Given the description of an element on the screen output the (x, y) to click on. 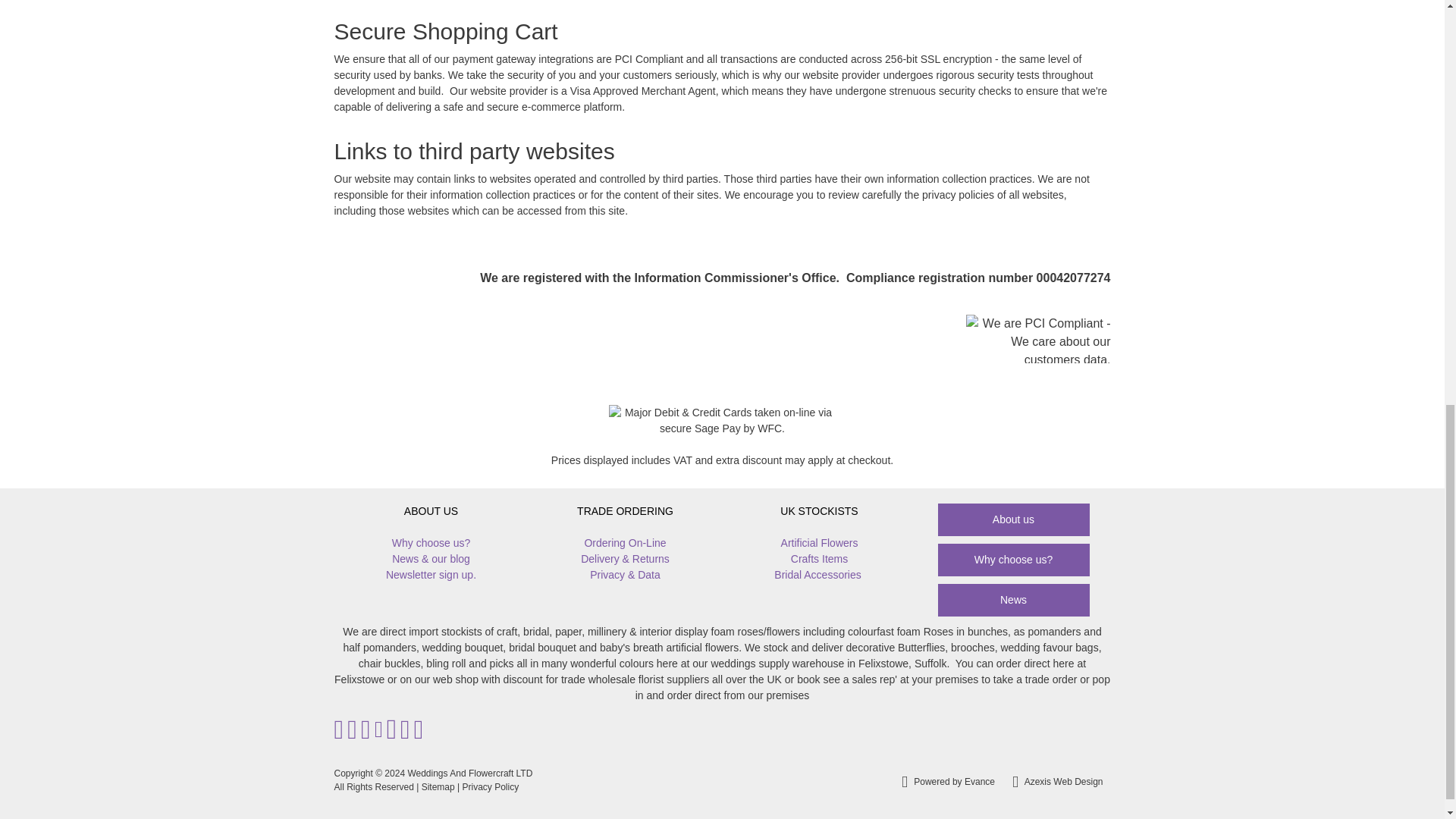
About us (1013, 519)
News (1013, 599)
Newsletter sign up. (430, 575)
Artificial Flowers (819, 543)
Why choose us? (430, 543)
Why choose us? (1013, 559)
Bridal Accessories (817, 575)
Crafts Items (818, 559)
Ordering On-Line (624, 543)
